Given the description of an element on the screen output the (x, y) to click on. 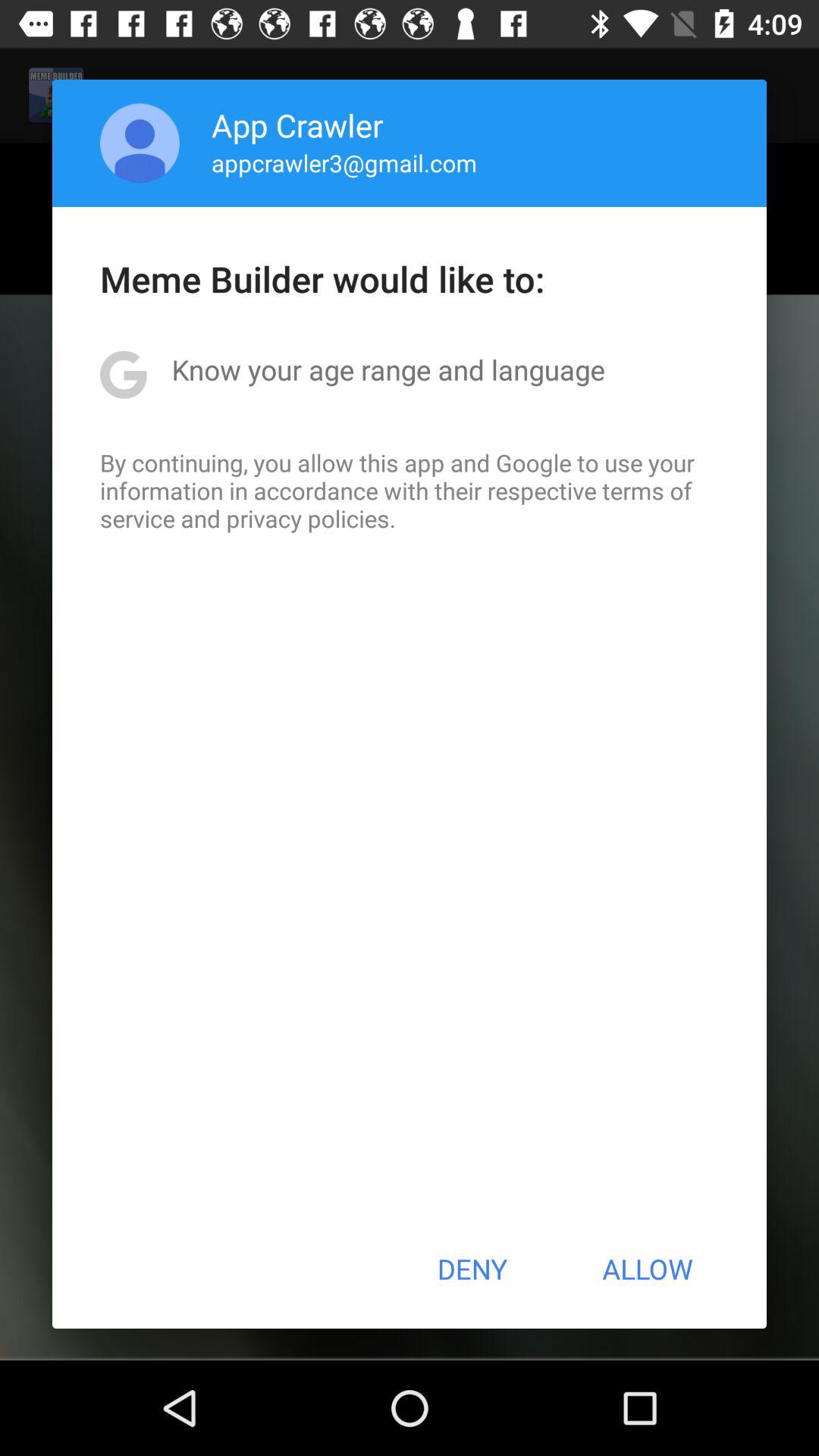
press item below app crawler item (344, 162)
